Given the description of an element on the screen output the (x, y) to click on. 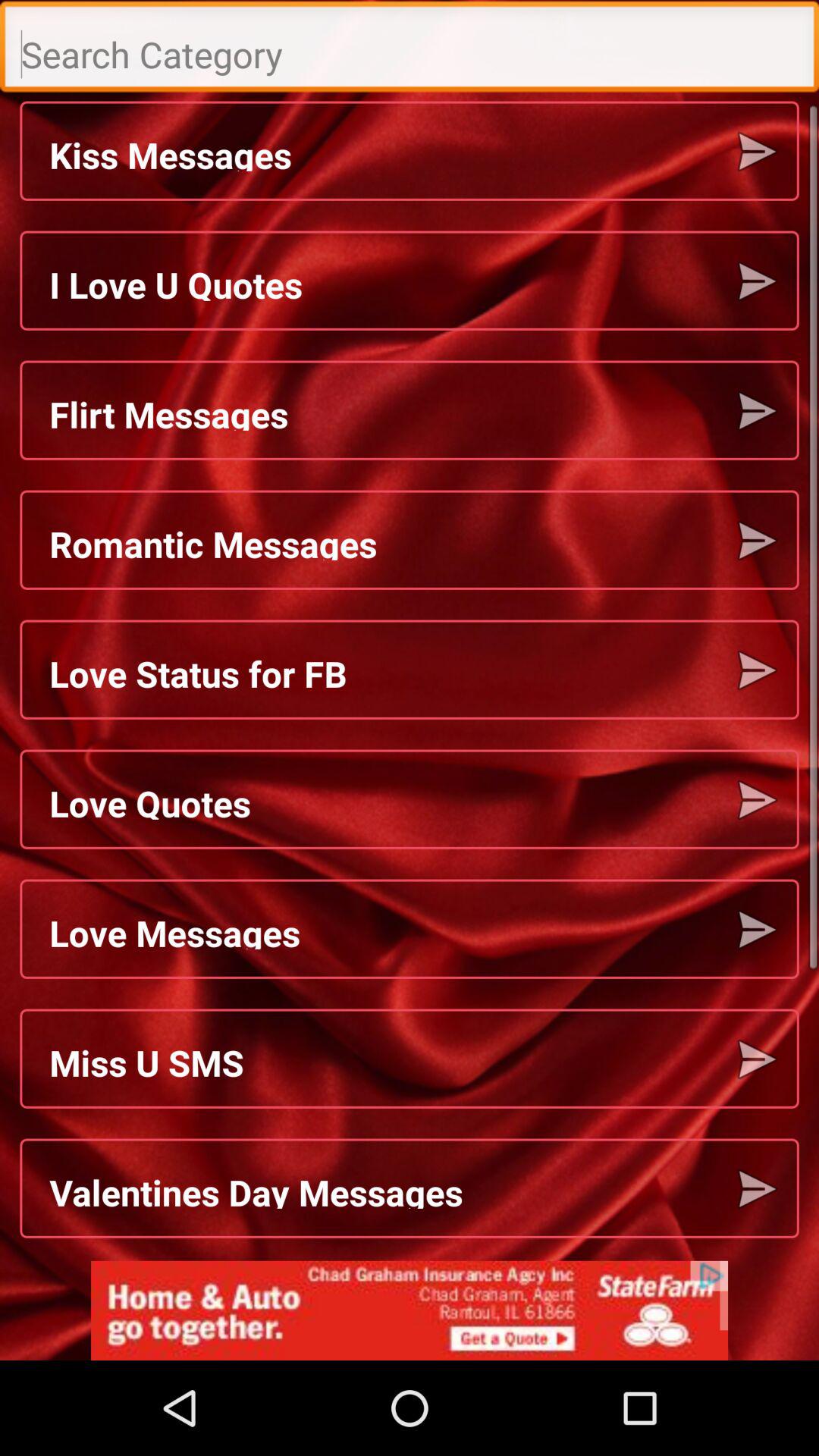
search field (409, 50)
